Given the description of an element on the screen output the (x, y) to click on. 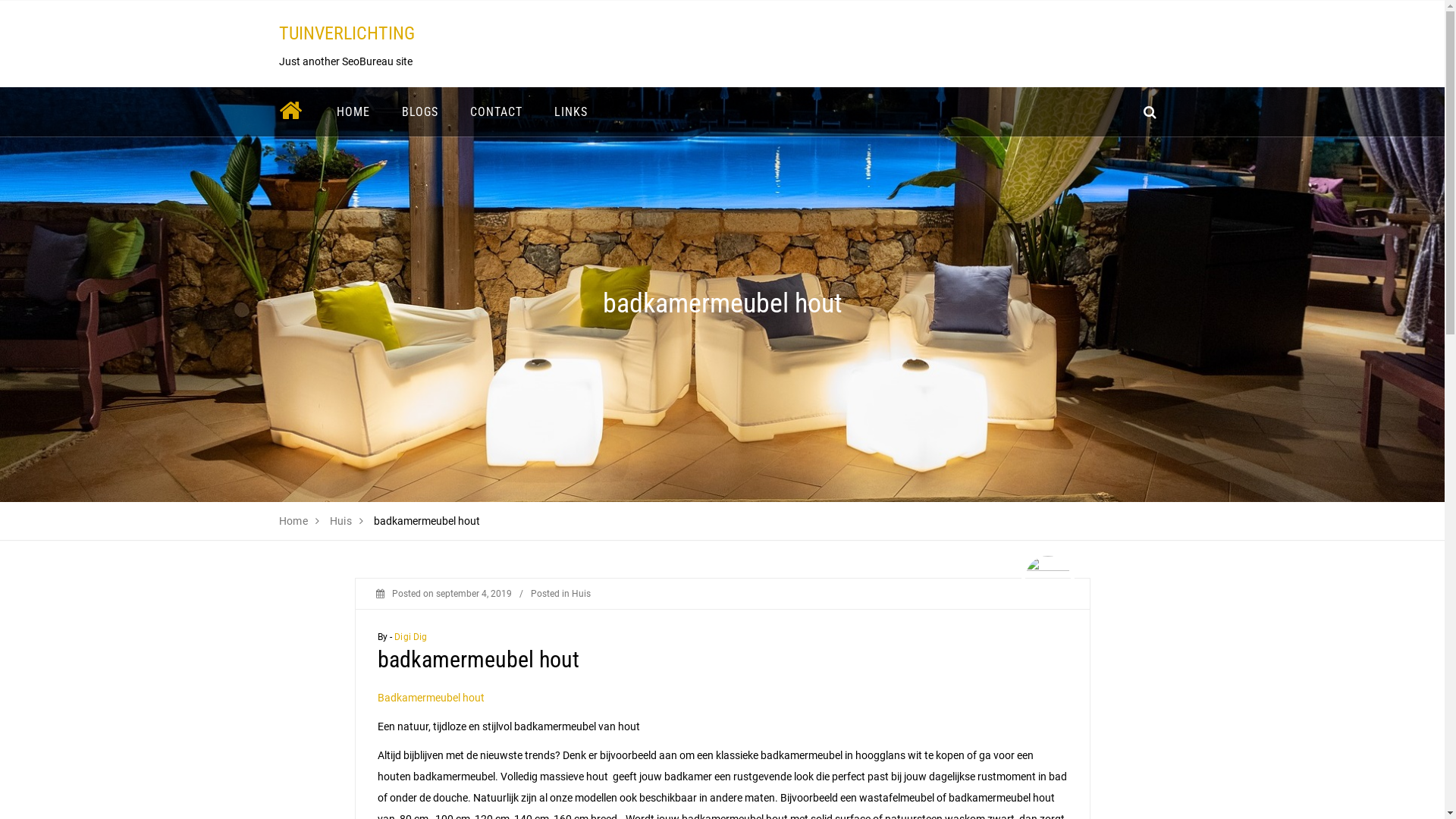
LINKS Element type: text (570, 111)
Home Element type: text (293, 520)
Huis Element type: text (340, 520)
search_icon Element type: hover (1148, 111)
CONTACT Element type: text (495, 111)
BLOGS Element type: text (419, 111)
Badkamermeubel hout Element type: text (430, 697)
HOME Element type: text (352, 111)
Huis Element type: text (580, 593)
TUINVERLICHTING Element type: text (346, 32)
Digi Dig Element type: text (410, 636)
september 4, 2019 Element type: text (473, 593)
